Given the description of an element on the screen output the (x, y) to click on. 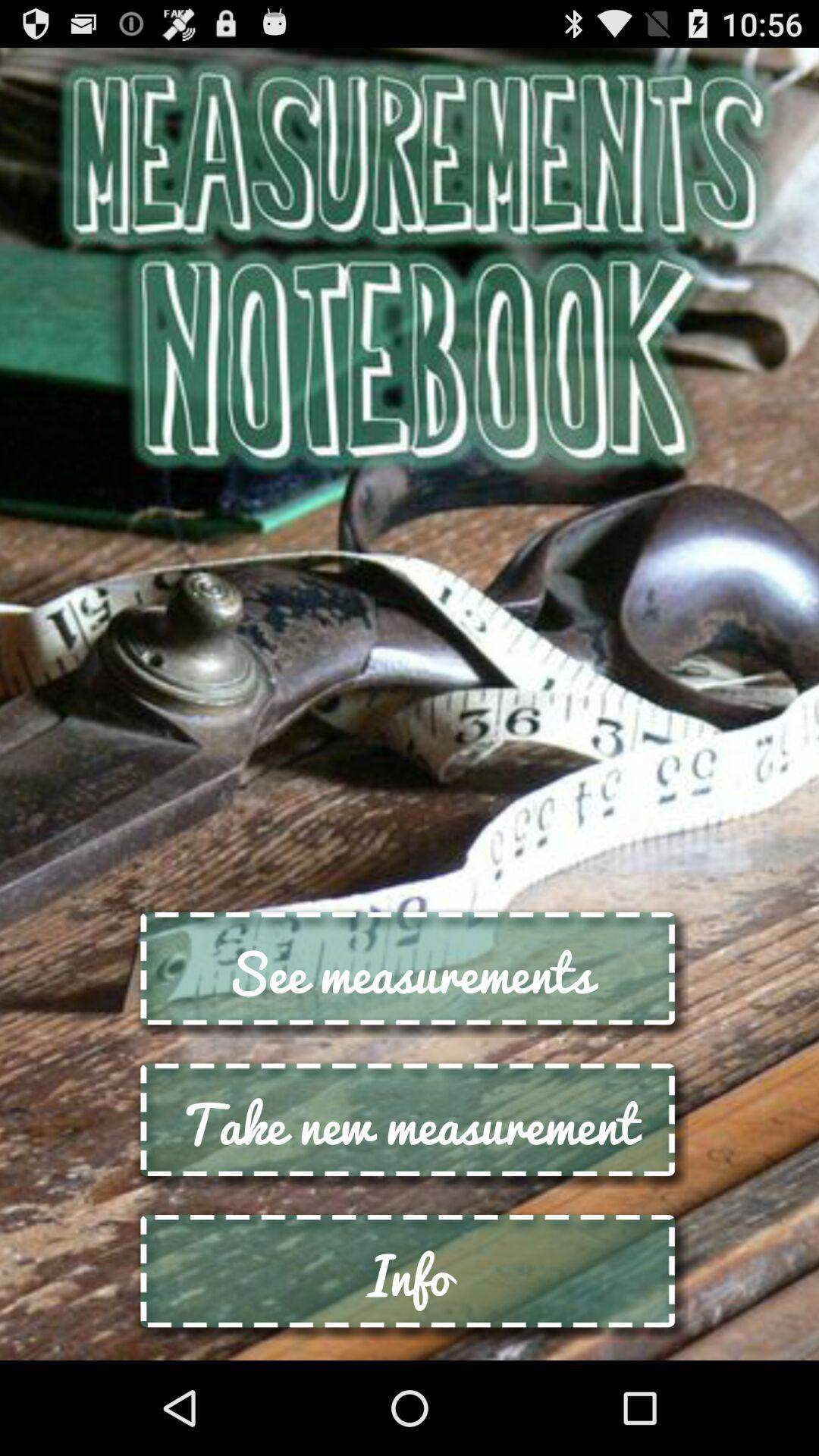
choose see measurements icon (409, 971)
